Given the description of an element on the screen output the (x, y) to click on. 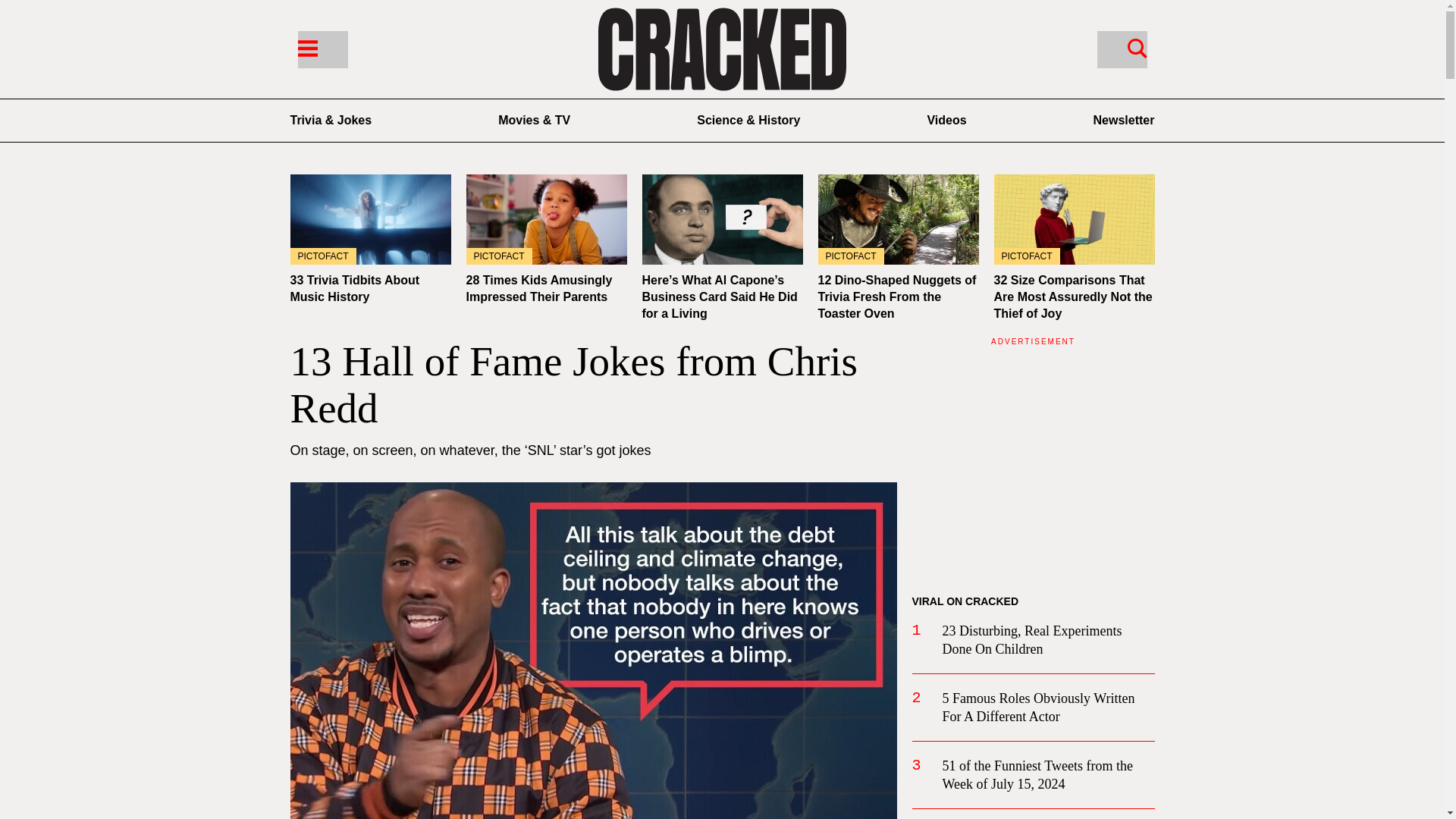
Newsletter (1123, 119)
33 Trivia Tidbits About Music History (354, 288)
Search (1136, 47)
28 Times Kids Amusingly Impressed Their Parents (538, 288)
Videos (946, 119)
PICTOFACT (1073, 219)
PICTOFACT (545, 219)
PICTOFACT (897, 219)
Menu (322, 48)
PICTOFACT (369, 219)
Menu (307, 47)
28 Times Kids Amusingly Impressed Their Parents (545, 219)
33 Trivia Tidbits About Music History (369, 219)
Search (1121, 48)
